Given the description of an element on the screen output the (x, y) to click on. 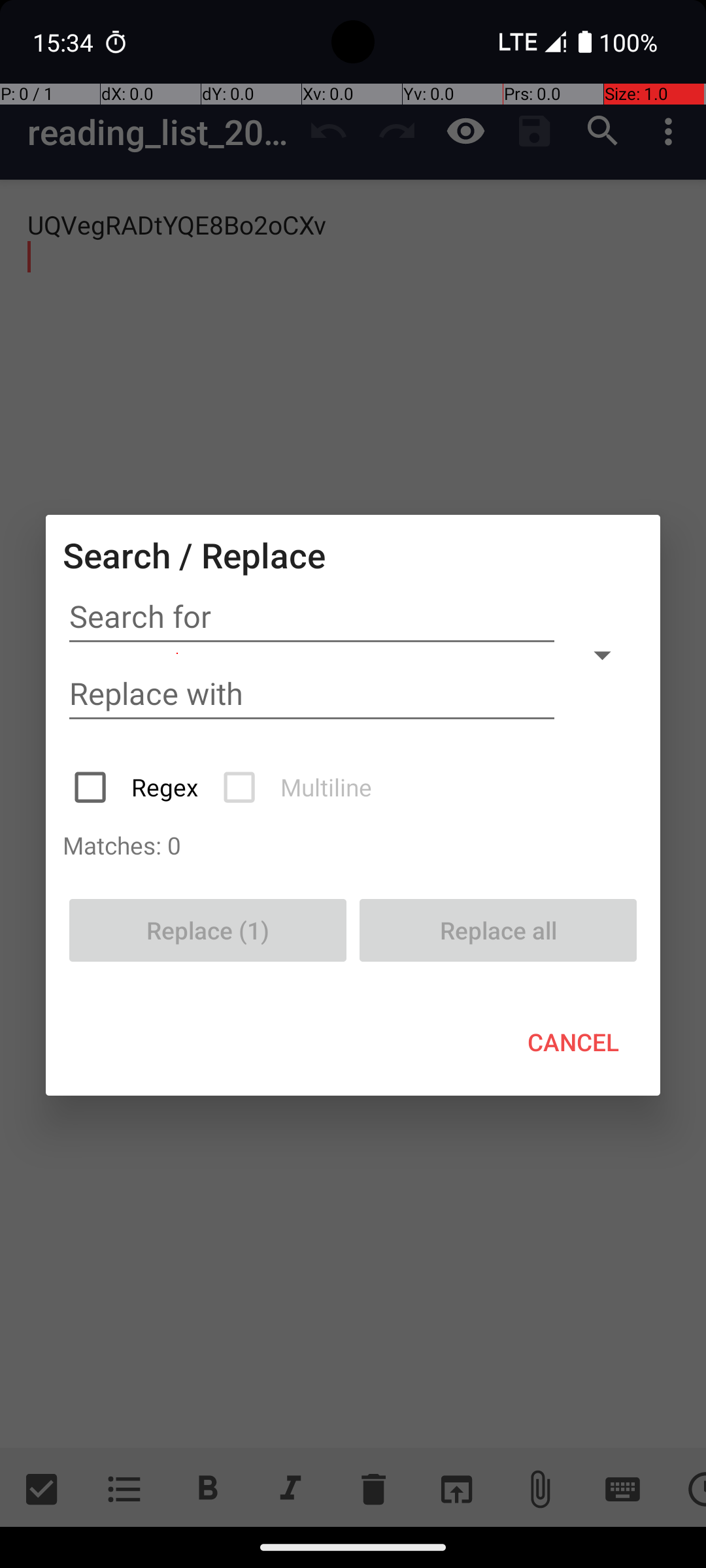
Search / Replace Element type: android.widget.TextView (193, 554)
Search for Element type: android.widget.EditText (311, 616)
Replace with Element type: android.widget.EditText (311, 693)
Regex Element type: android.widget.CheckBox (136, 786)
Multiline Element type: android.widget.CheckBox (298, 786)
Matches: 0 Element type: android.widget.TextView (352, 844)
Replace (1) Element type: android.widget.Button (207, 930)
Replace all Element type: android.widget.Button (498, 930)
